Given the description of an element on the screen output the (x, y) to click on. 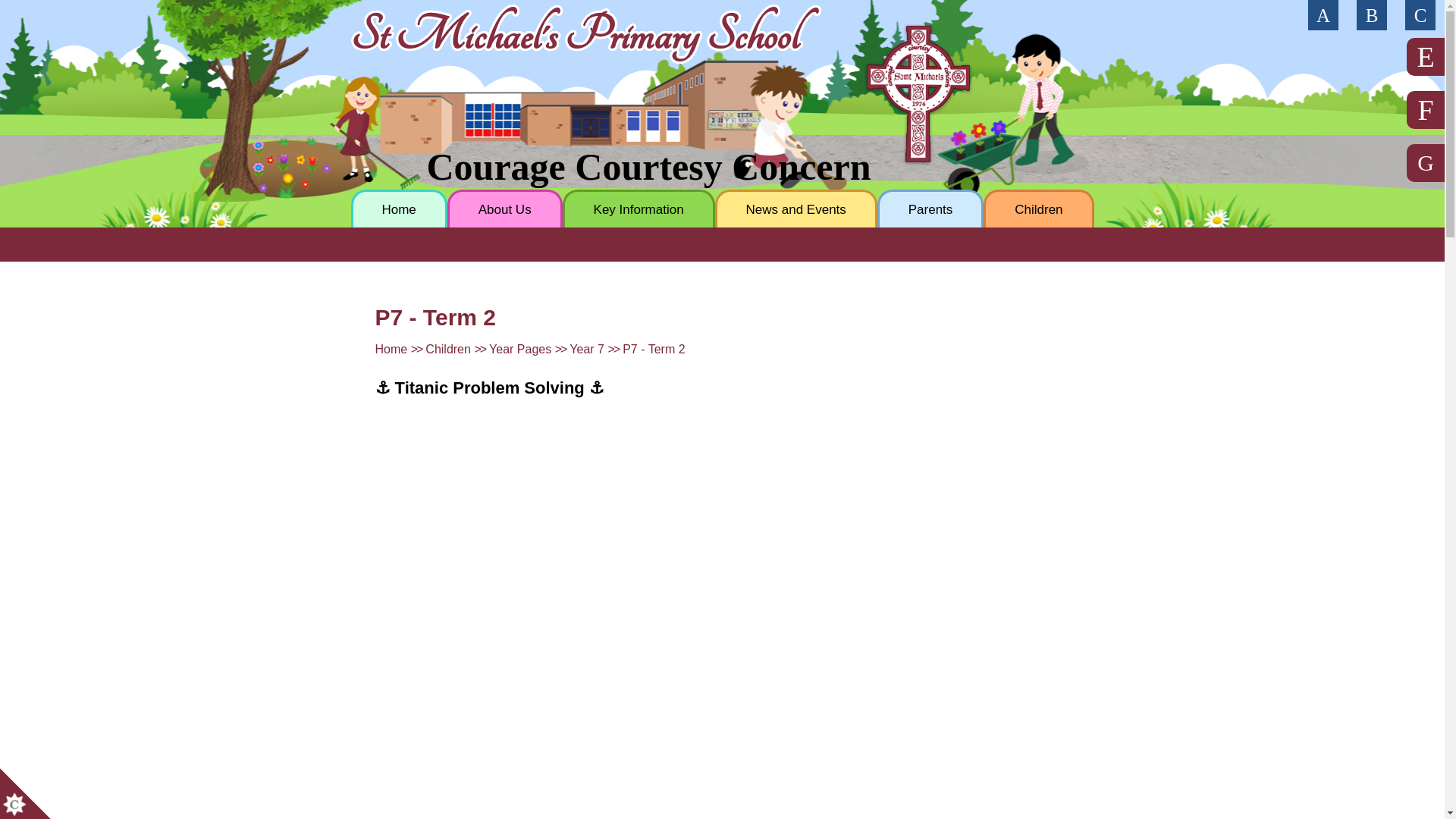
Key Information (638, 208)
Parents (930, 208)
Log in (1420, 15)
About Us (504, 208)
News and Events (795, 208)
Children (1038, 208)
Home (398, 208)
